Given the description of an element on the screen output the (x, y) to click on. 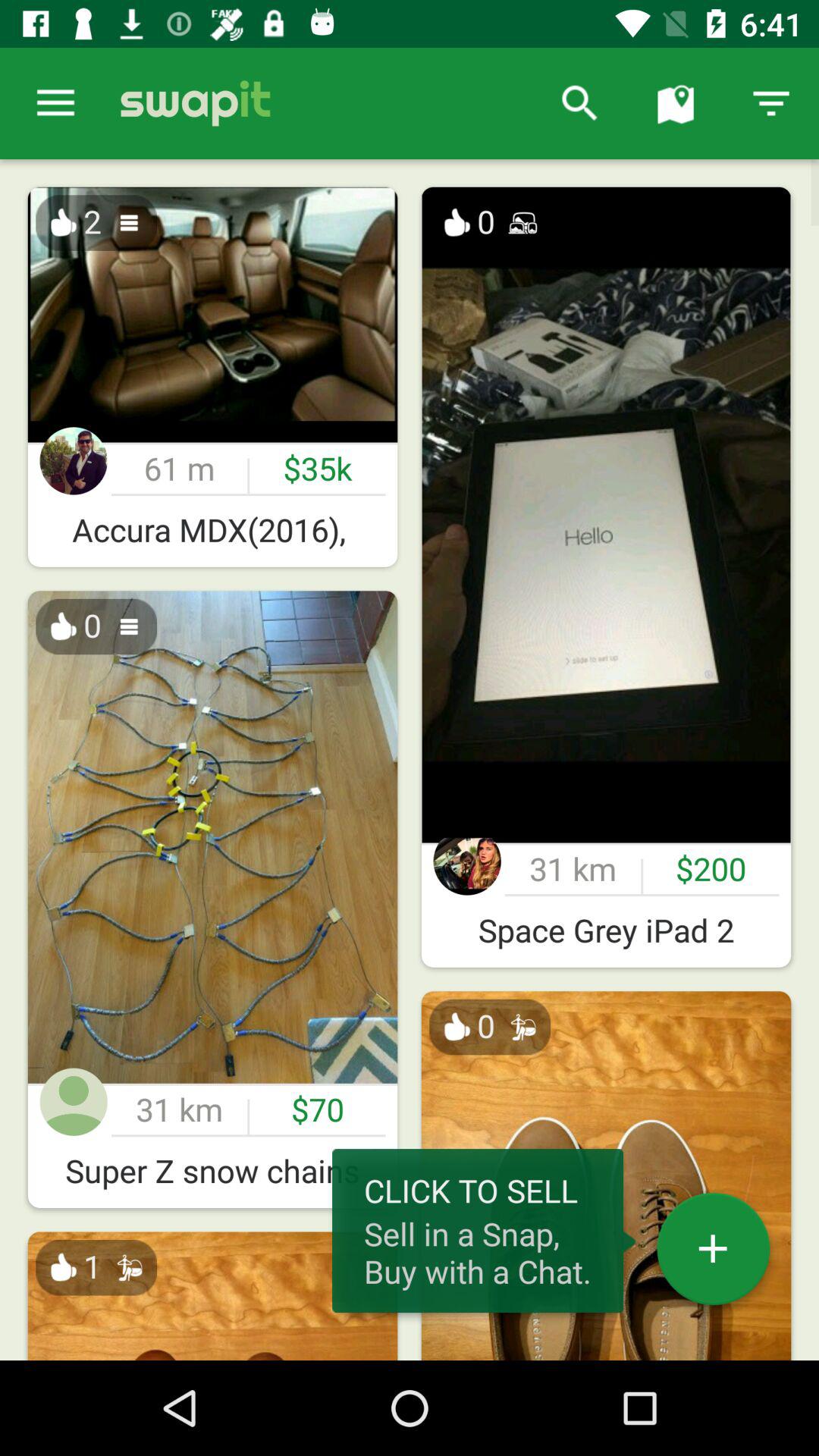
choose item next to the swap icon (55, 103)
